Given the description of an element on the screen output the (x, y) to click on. 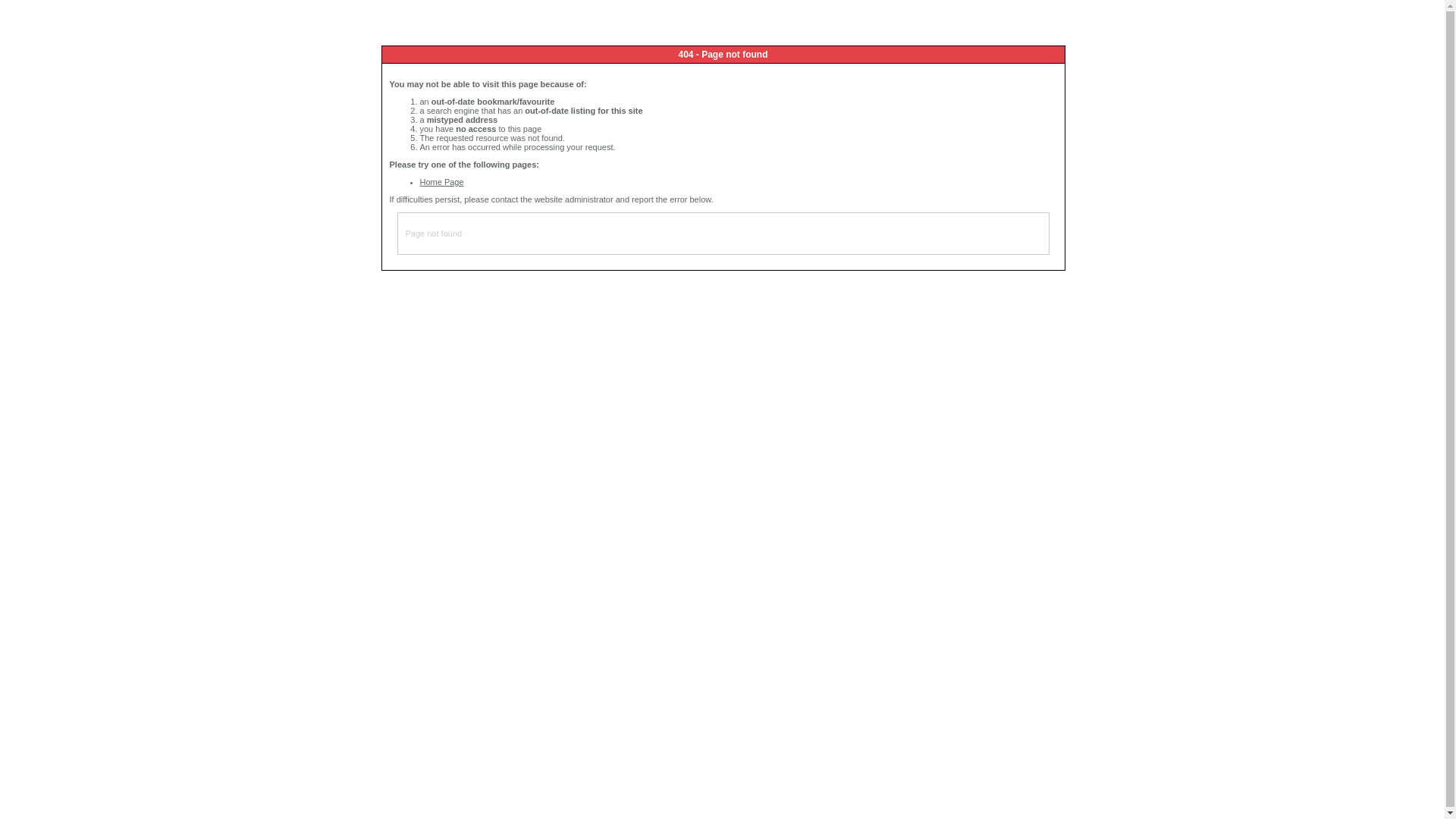
Home Page Element type: text (442, 181)
